Given the description of an element on the screen output the (x, y) to click on. 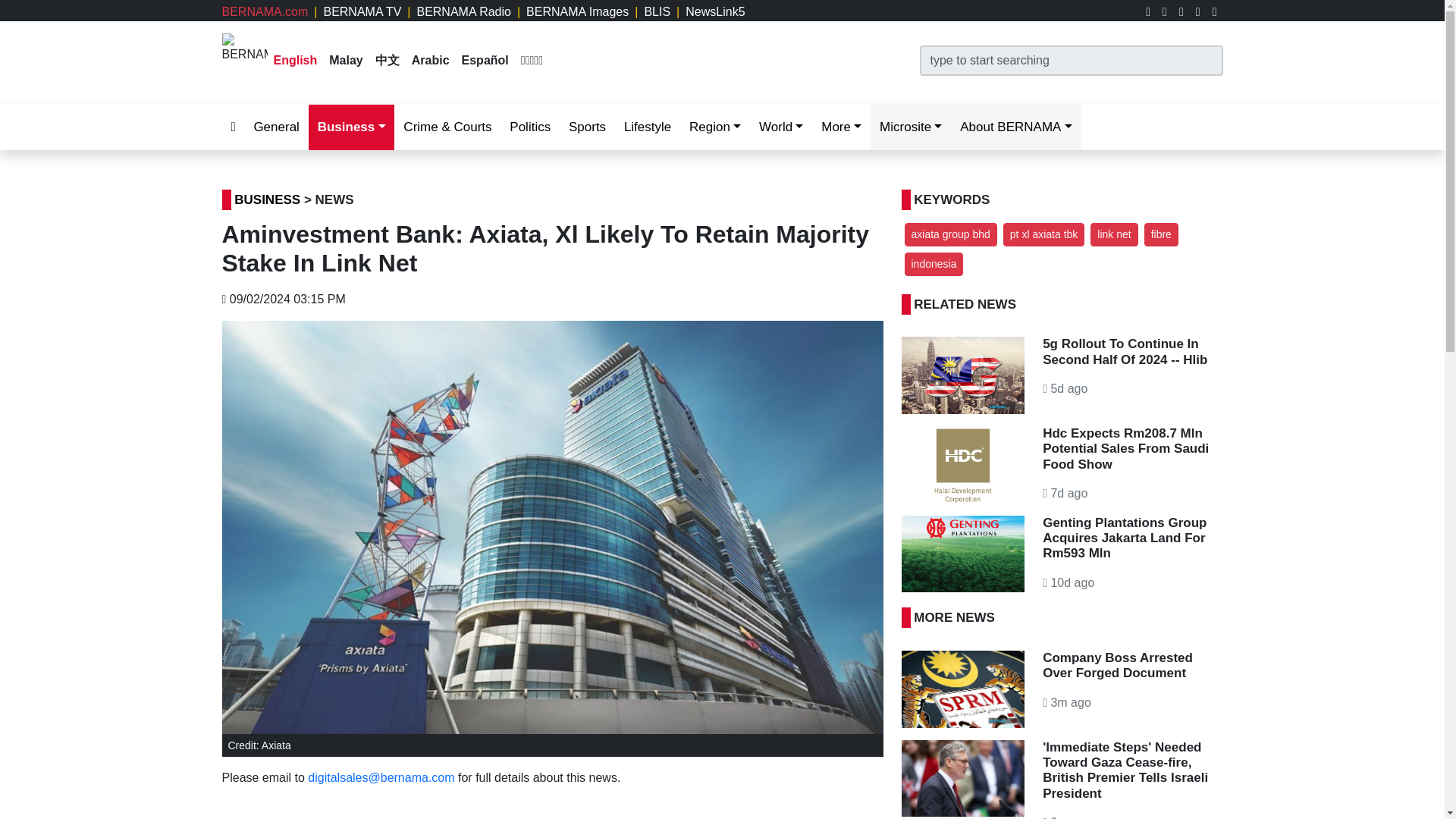
Business (351, 126)
Arabic (430, 60)
BLIS (656, 11)
English (295, 60)
Region (714, 126)
NewsLink5 (714, 11)
General (275, 126)
BERNAMA Radio (463, 11)
BERNAMA.com (264, 11)
Sports (586, 126)
BERNAMA Images (576, 11)
More (841, 126)
BERNAMA TV (362, 11)
Lifestyle (646, 126)
World (780, 126)
